Given the description of an element on the screen output the (x, y) to click on. 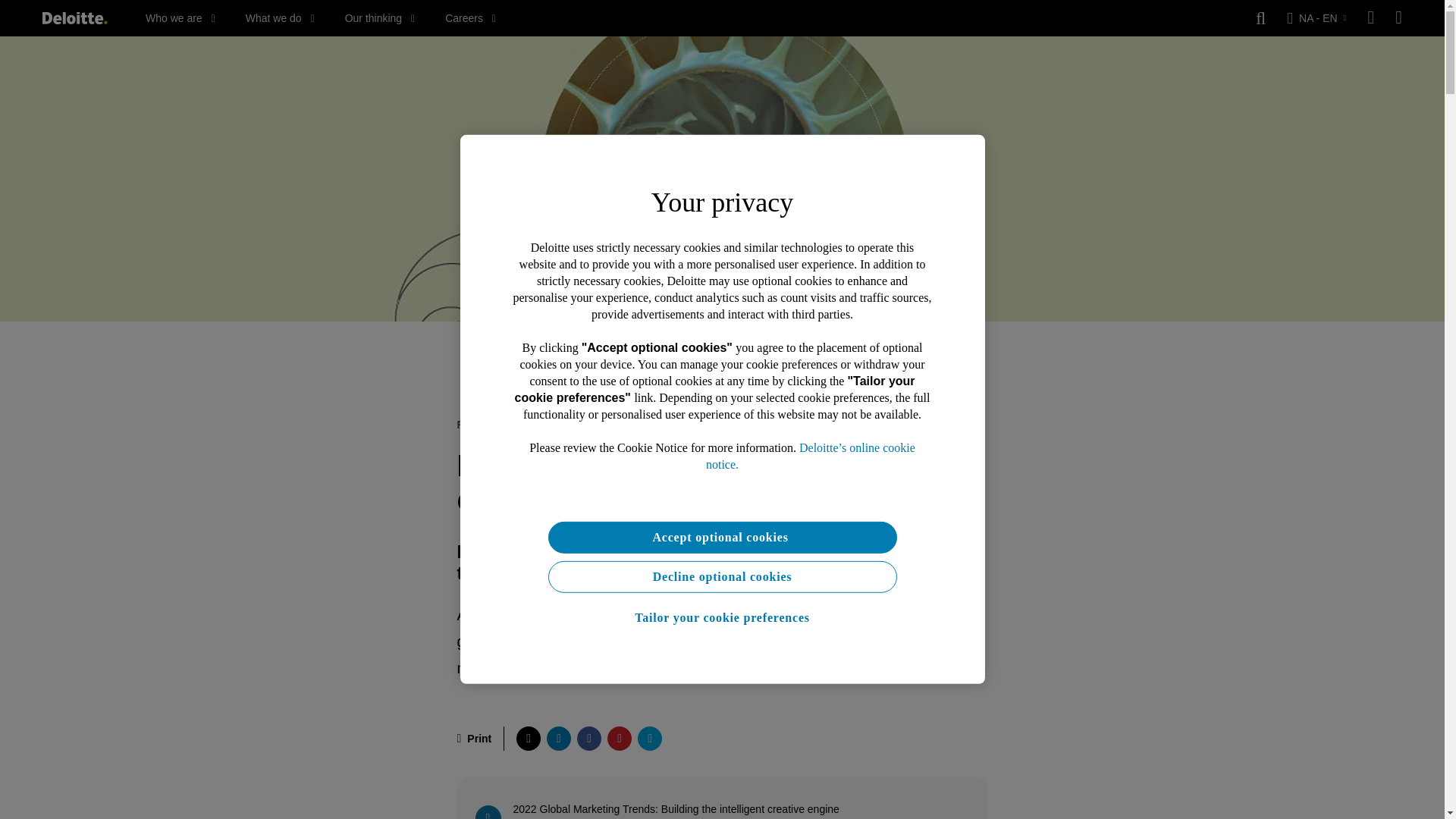
What we do (280, 18)
share via facebook (588, 738)
Deloitte (74, 18)
Print (474, 738)
Our thinking (379, 18)
Careers (470, 18)
share via twitter (528, 738)
share via linkedin (558, 738)
Who we are (180, 18)
share via pinterest (619, 738)
